Given the description of an element on the screen output the (x, y) to click on. 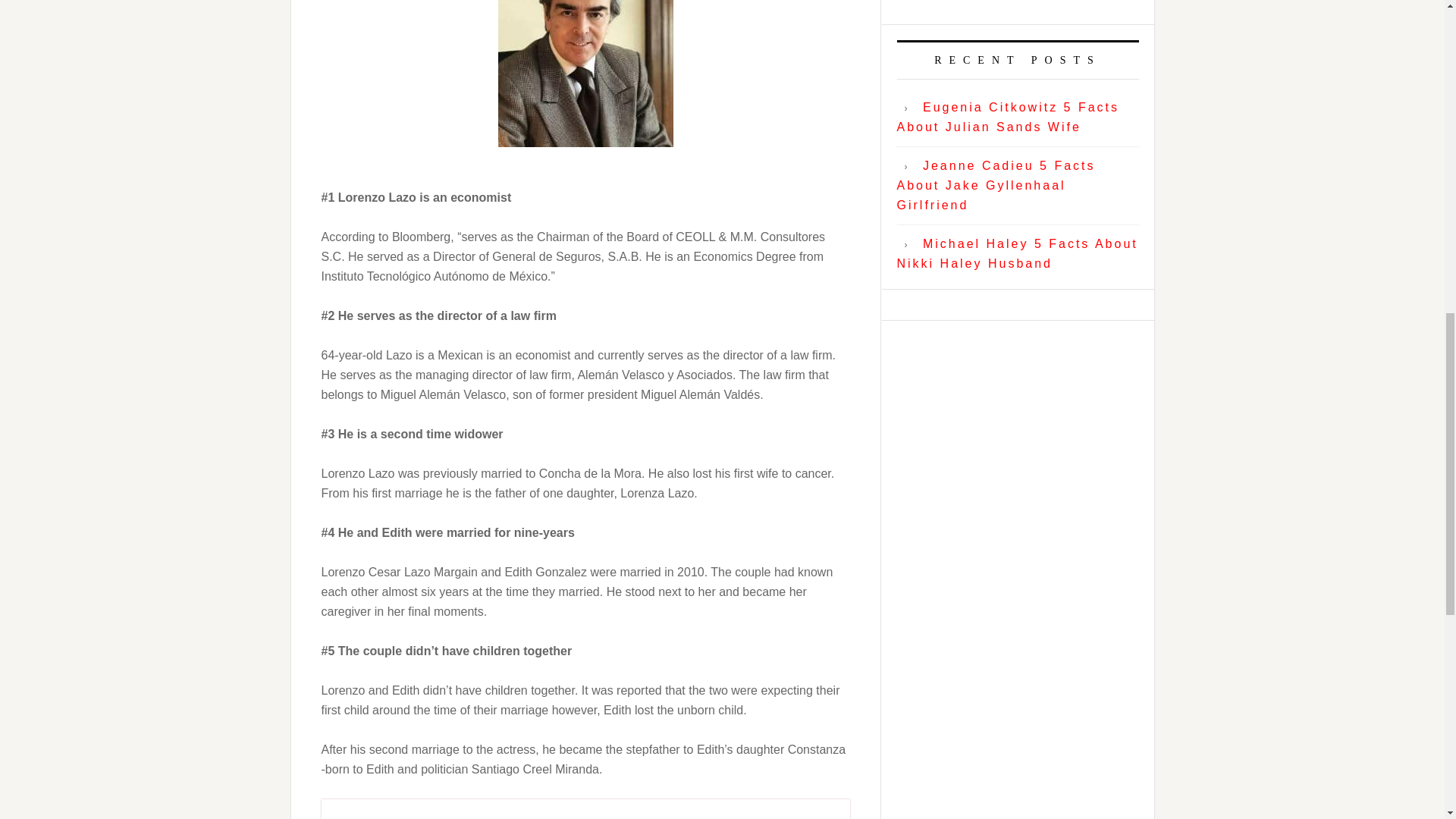
Jeanne Cadieu 5 Facts About Jake Gyllenhaal Girlfriend (995, 184)
Michael Haley 5 Facts About Nikki Haley Husband (1016, 253)
Eugenia Citkowitz 5 Facts About Julian Sands Wife (1007, 116)
